Given the description of an element on the screen output the (x, y) to click on. 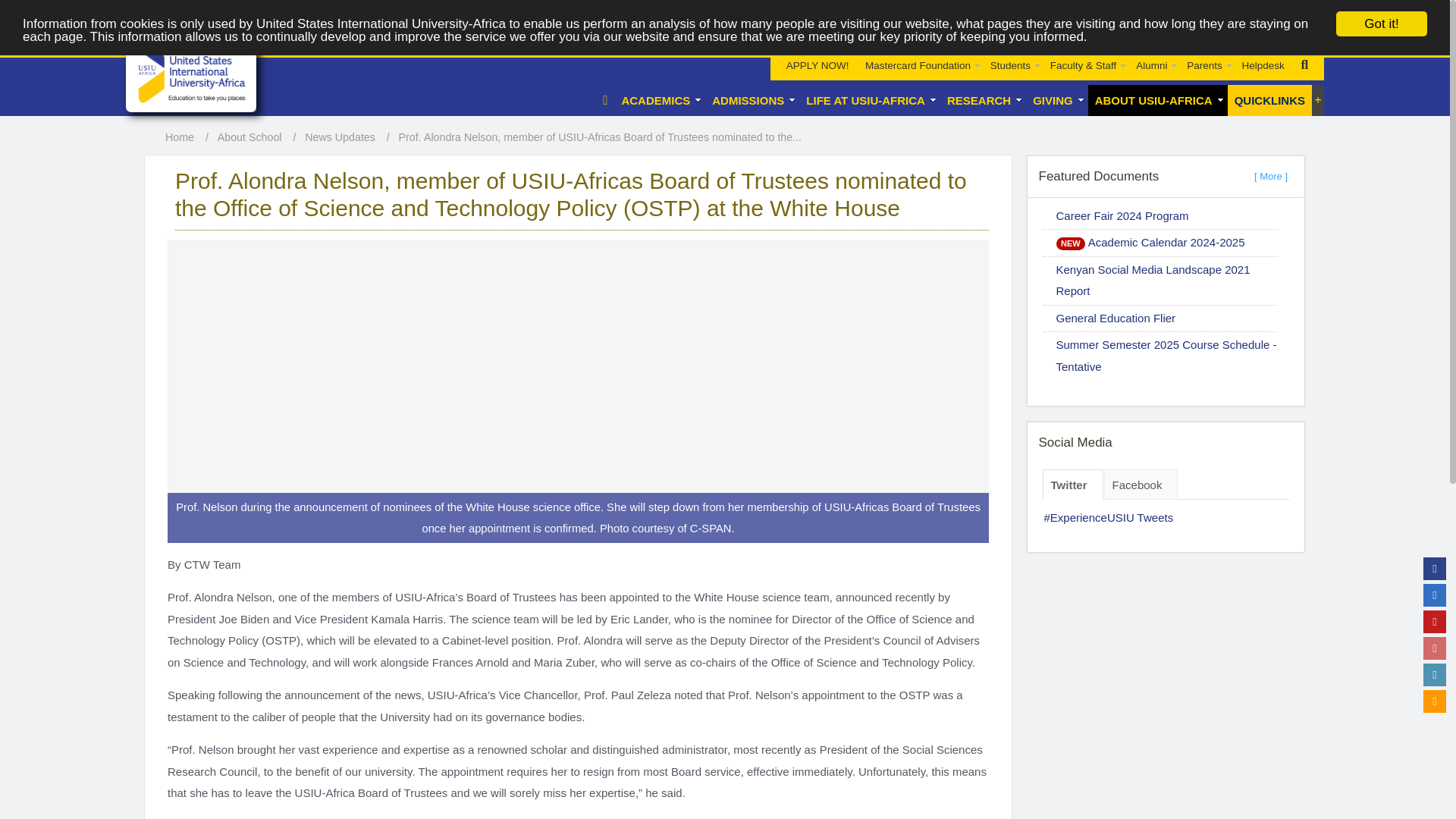
Instagram (1434, 648)
Students (1011, 64)
LinkedIn (1434, 674)
Mastercard Foundation (919, 37)
Talk to us (1434, 701)
Facebook (1434, 568)
X (1434, 594)
YouTube (1434, 621)
Search (1304, 65)
APPLY NOW! (817, 33)
